Given the description of an element on the screen output the (x, y) to click on. 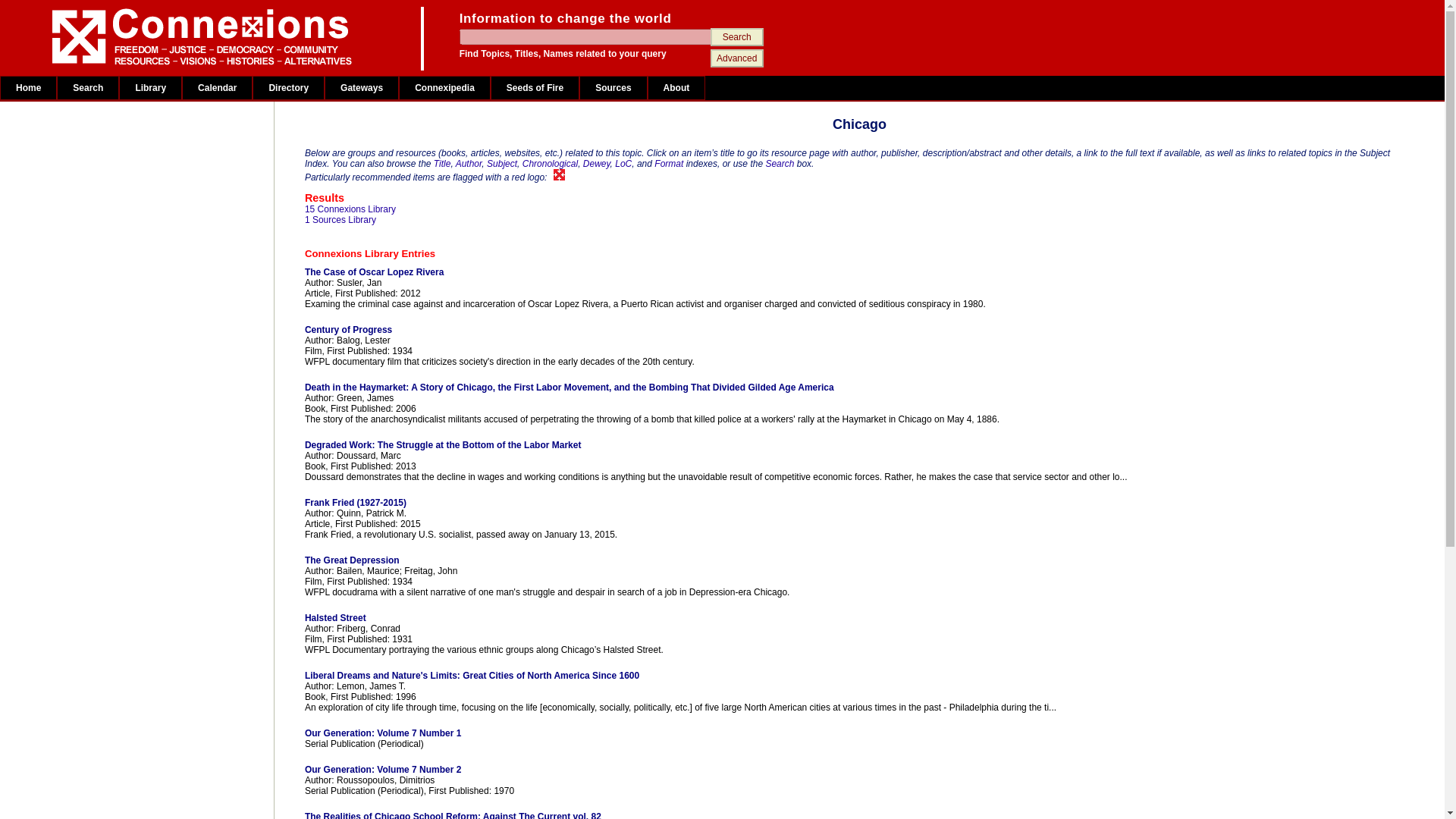
Calendar (216, 87)
Gateways (361, 87)
Library (150, 87)
View Connexions Library record for "The Great Depression" (772, 560)
Search (736, 36)
Click to go to "Connexions Library" section (350, 208)
View Connexions Library record for "Halsted Street" (772, 617)
View Connexions Library record for "Century of Progress" (772, 329)
Click to go to "Connexions Library" (772, 253)
Directory (287, 87)
